Given the description of an element on the screen output the (x, y) to click on. 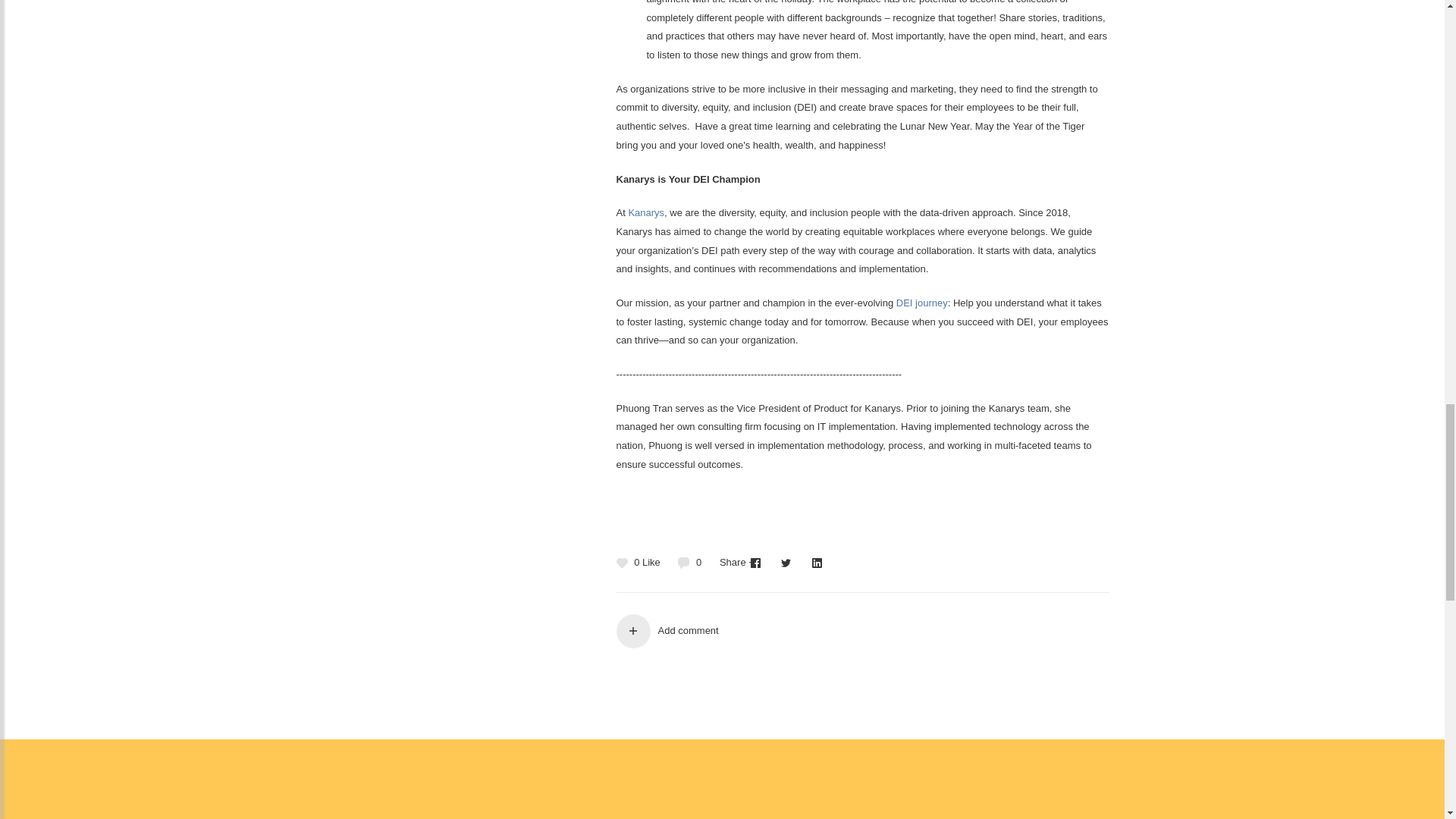
Add comment (861, 631)
0 Like (640, 562)
DEI journey (921, 302)
Kanarys (645, 212)
